Given the description of an element on the screen output the (x, y) to click on. 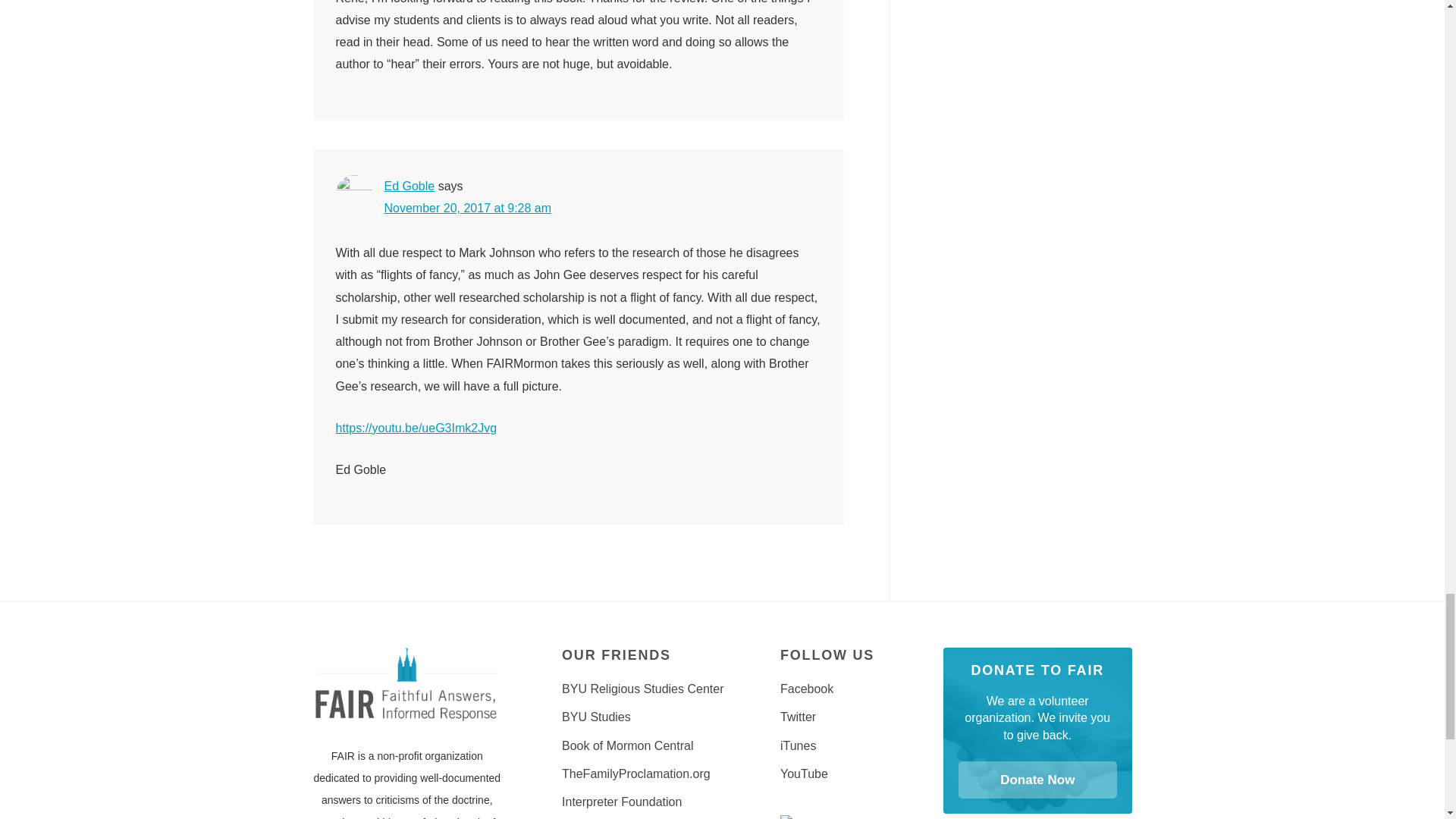
Ed Goble (408, 185)
November 20, 2017 at 9:28 am (467, 207)
